Given the description of an element on the screen output the (x, y) to click on. 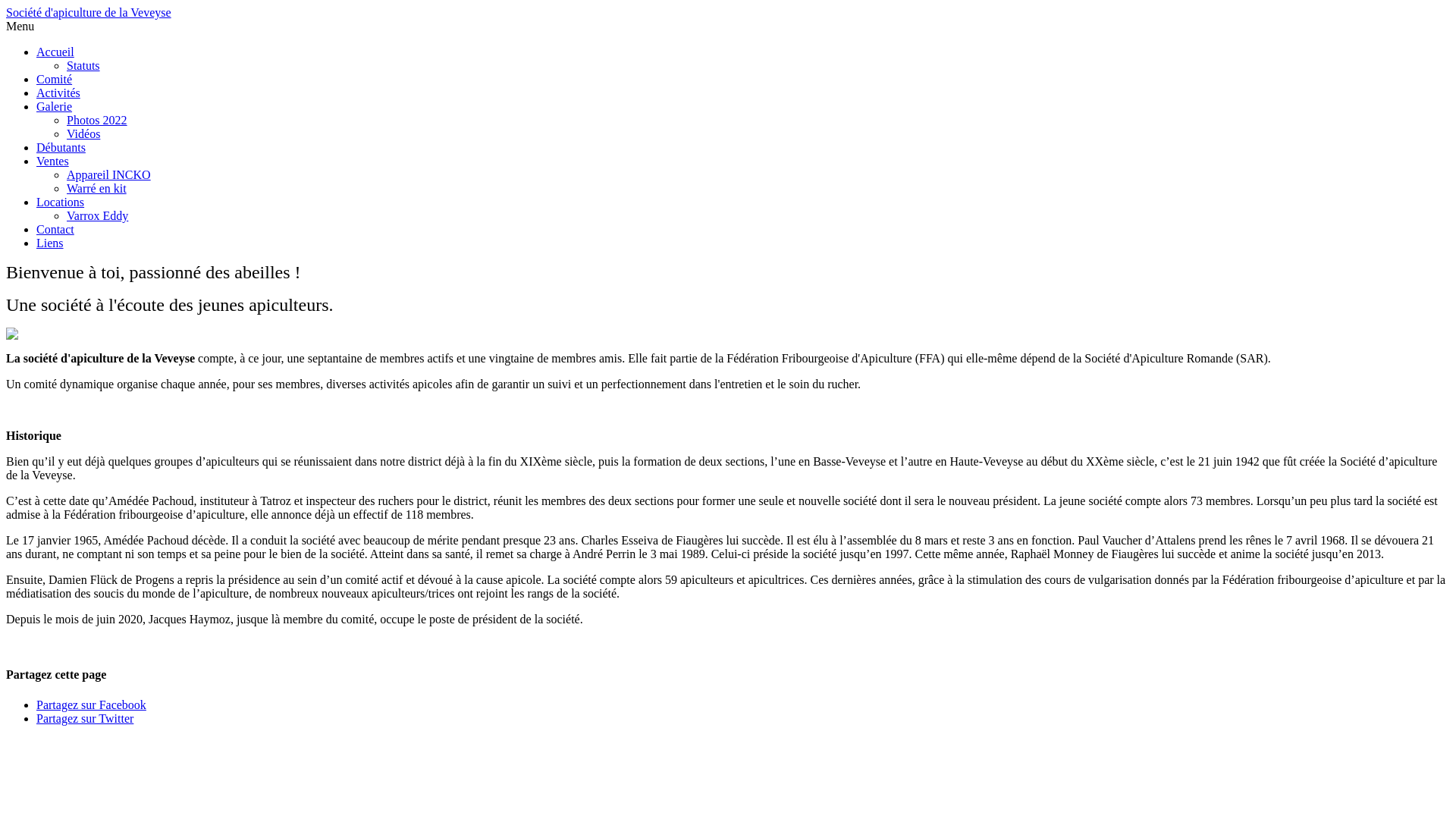
Liens Element type: text (49, 242)
Contact Element type: text (55, 228)
Varrox Eddy Element type: text (97, 215)
Locations Element type: text (60, 201)
Partagez sur Twitter Element type: text (84, 718)
Accueil Element type: text (55, 51)
Photos 2022 Element type: text (96, 119)
Statuts Element type: text (83, 65)
Ventes Element type: text (52, 160)
Partagez sur Facebook Element type: text (91, 704)
Galerie Element type: text (54, 106)
Menu Element type: text (20, 25)
Appareil INCKO Element type: text (108, 174)
